Given the description of an element on the screen output the (x, y) to click on. 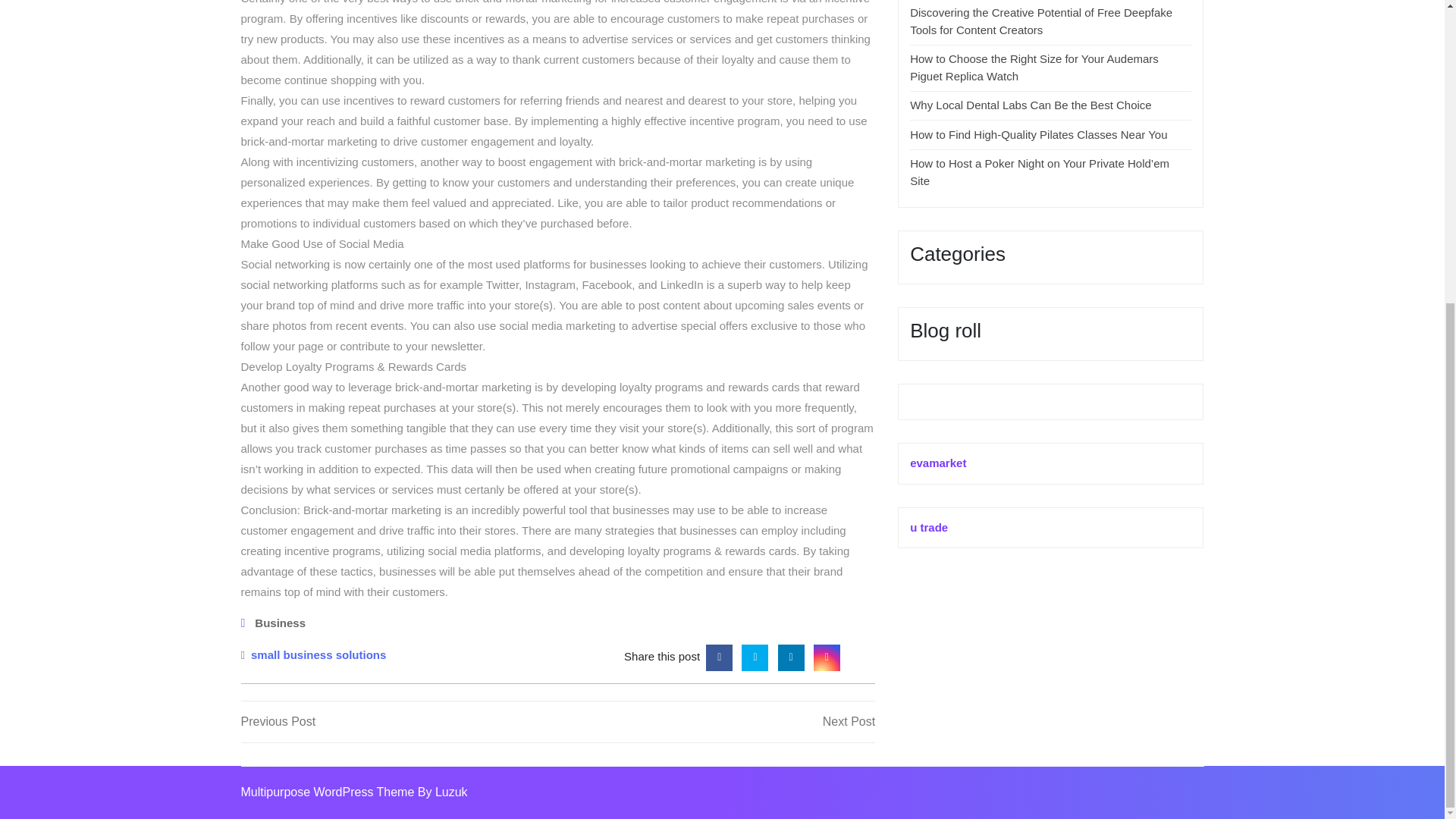
u trade (928, 526)
Facebook (716, 721)
Linkedin (719, 655)
Twitter (791, 655)
small business solutions (754, 655)
Business (317, 654)
How to Find High-Quality Pilates Classes Near You (279, 622)
